Given the description of an element on the screen output the (x, y) to click on. 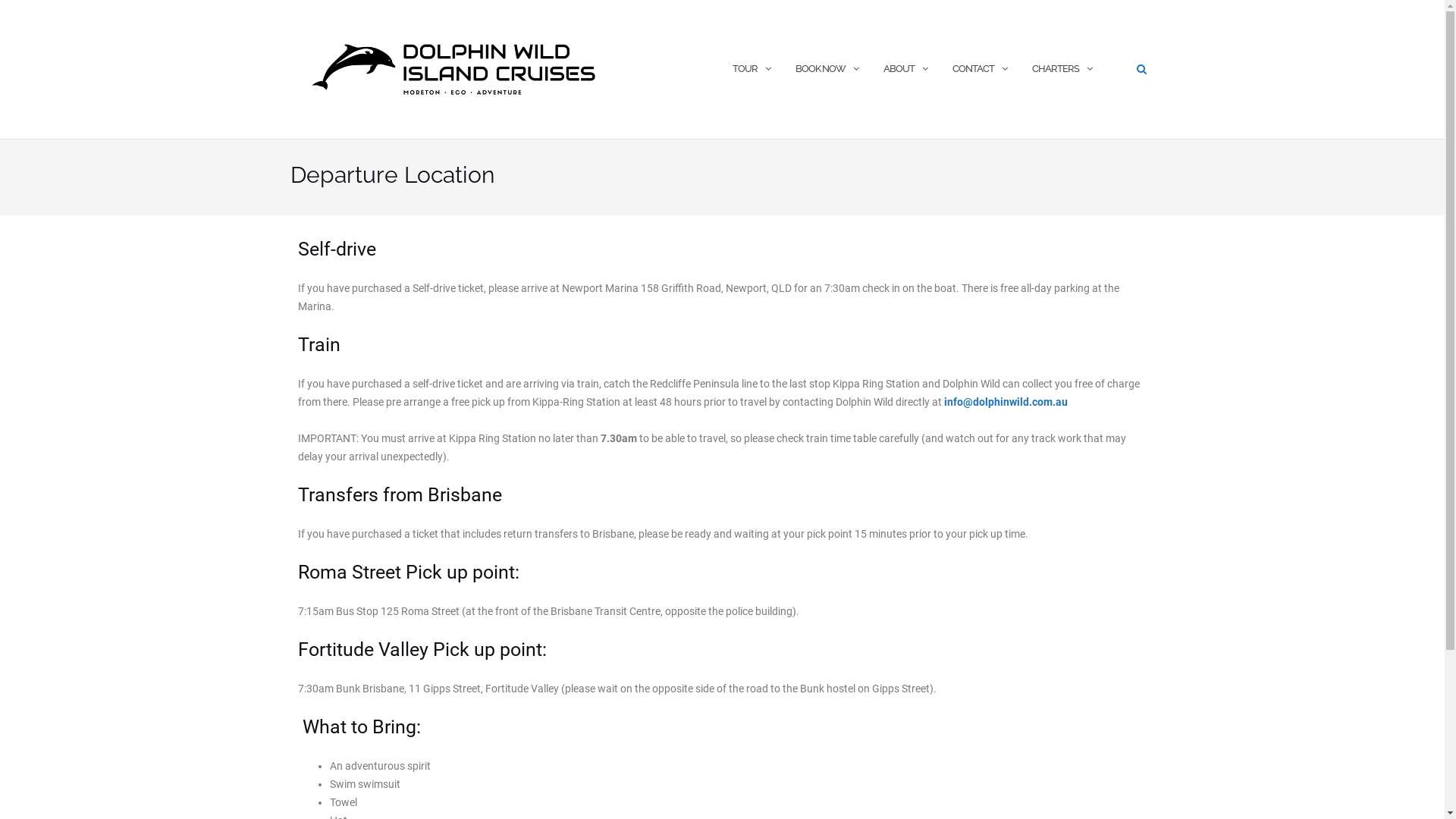
info@dolphinwild.com.au Element type: text (1004, 401)
BOOK NOW Element type: text (819, 69)
ABOUT Element type: text (897, 69)
CONTACT Element type: text (973, 69)
CHARTERS Element type: text (1054, 69)
TOUR Element type: text (744, 69)
